Given the description of an element on the screen output the (x, y) to click on. 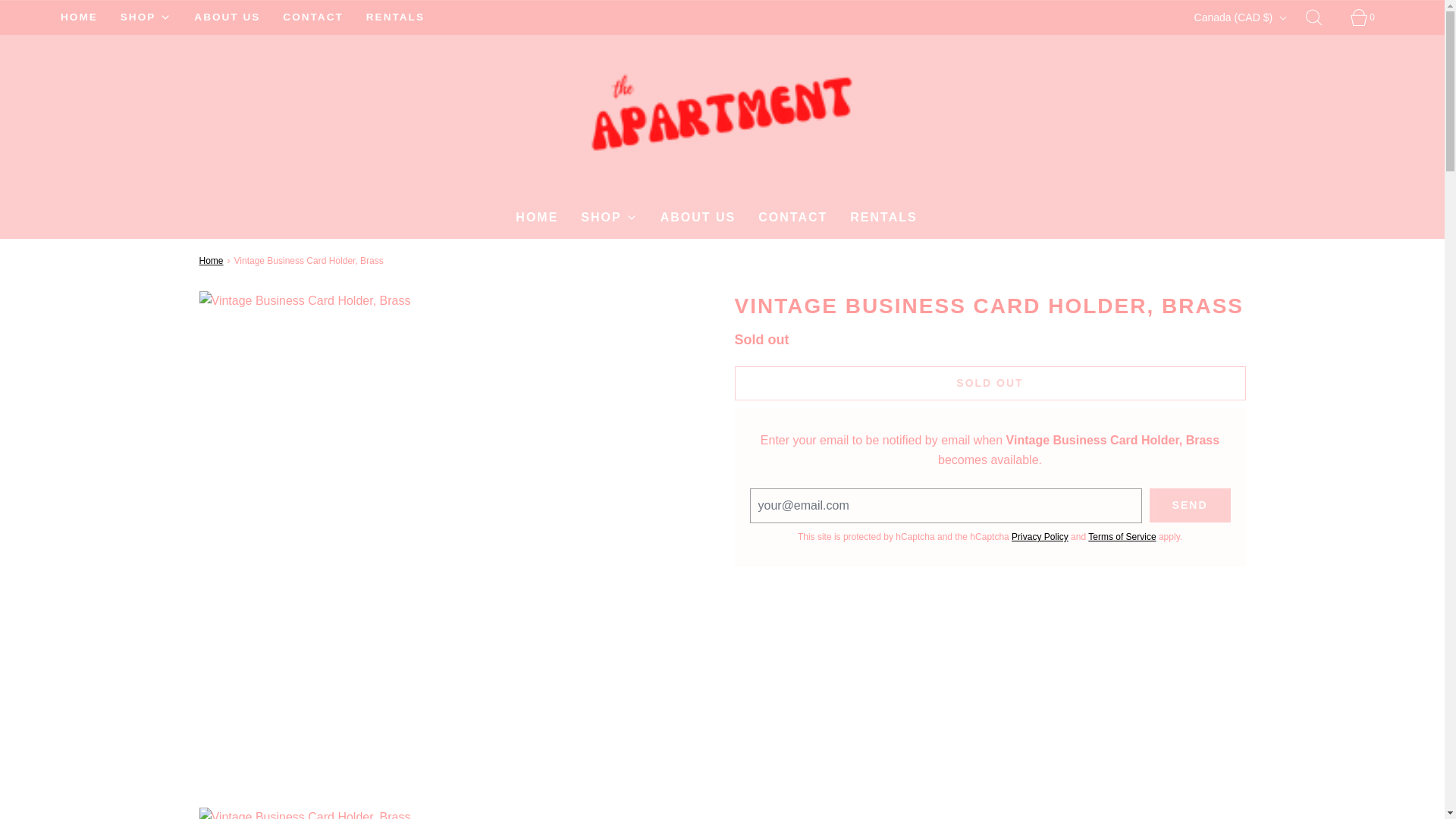
Back to the frontpage (212, 260)
Send (1190, 505)
Cart (1367, 17)
Search (1322, 17)
